Given the description of an element on the screen output the (x, y) to click on. 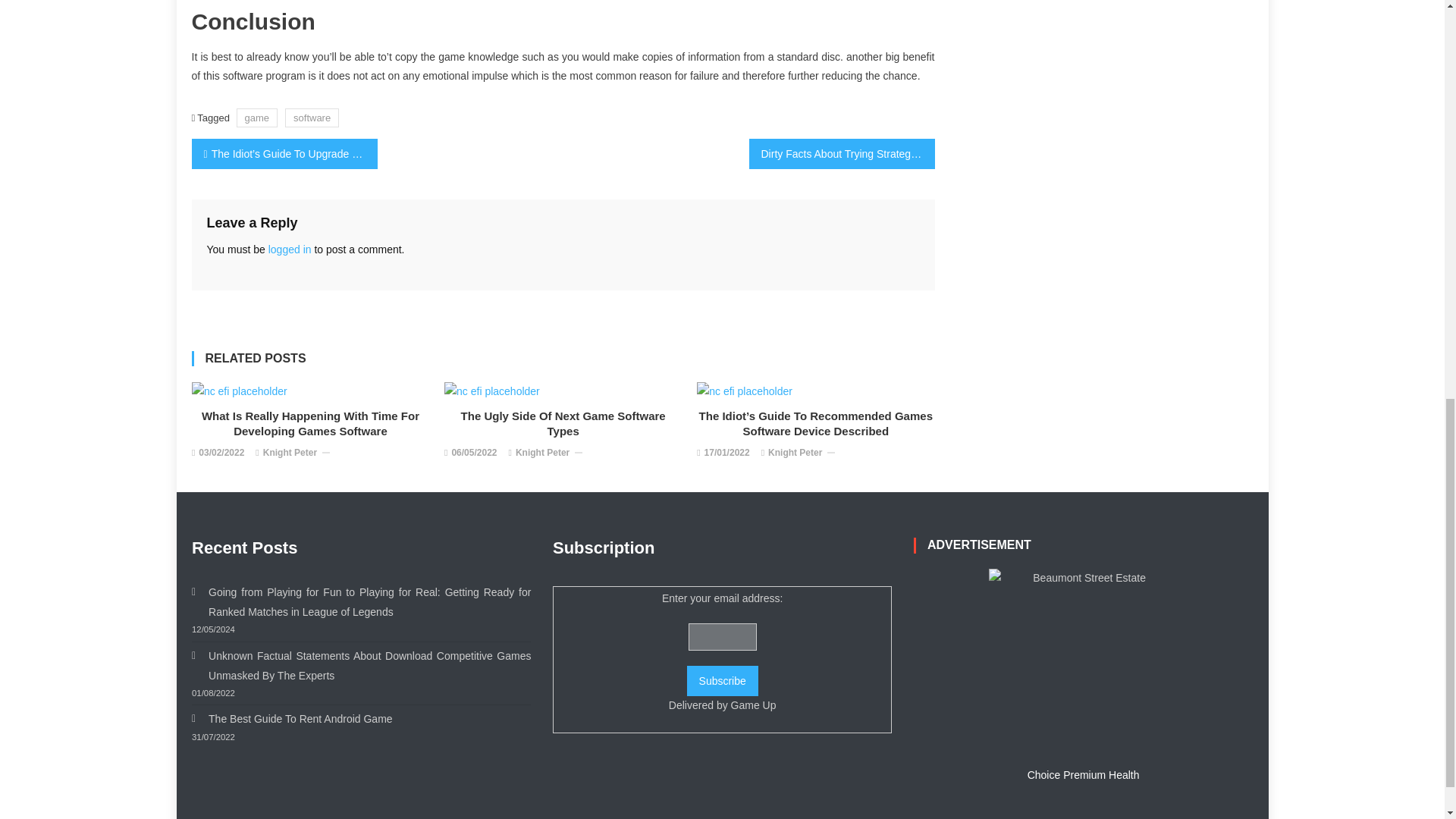
software (312, 117)
Subscribe (722, 680)
The Ugly Side of Next Game Software Types (492, 391)
Beaumont Street Estate (1082, 663)
game (256, 117)
logged in (289, 249)
Knight Peter (290, 453)
